Given the description of an element on the screen output the (x, y) to click on. 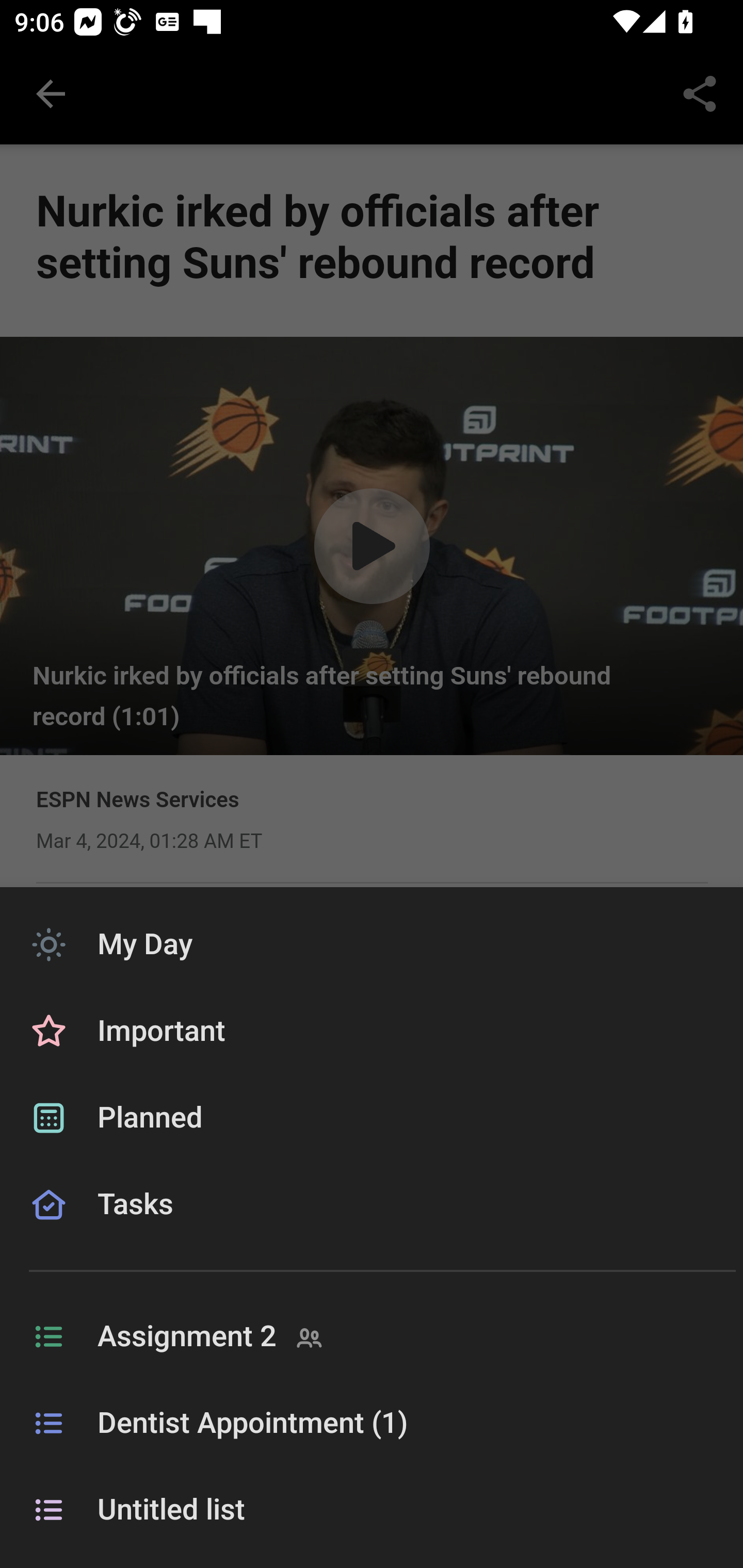
My Day, 0 tasks My Day (371, 944)
Important, 0 tasks Important (371, 1031)
Planned, 0 tasks Planned (371, 1118)
Tasks (371, 1227)
Shared list. Assignment 2 Assignment 2 Shared list (371, 1336)
Dentist Appointment (1) (371, 1423)
Untitled list (371, 1510)
